Given the description of an element on the screen output the (x, y) to click on. 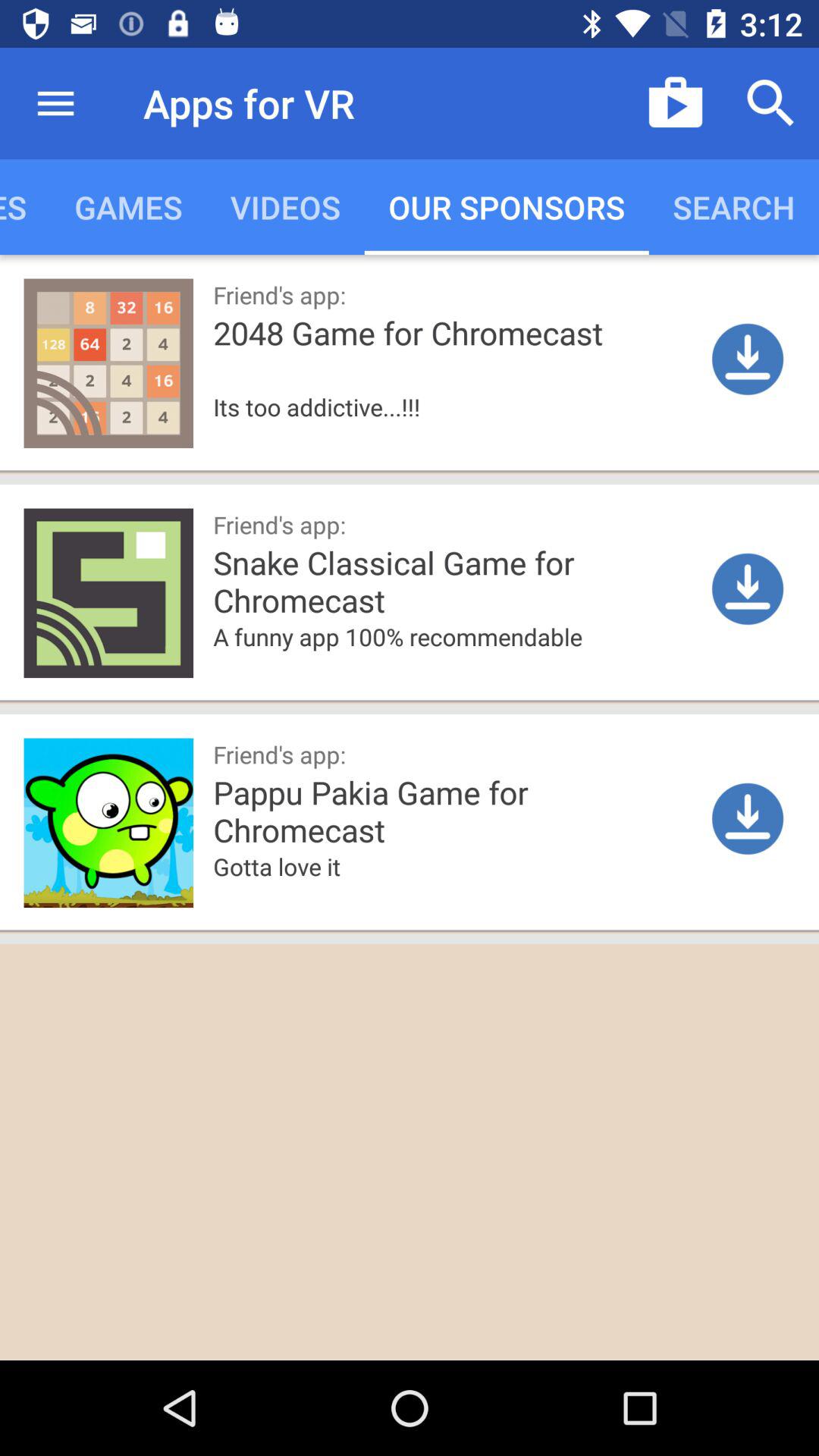
select the item above the friend's app: item (376, 430)
